Given the description of an element on the screen output the (x, y) to click on. 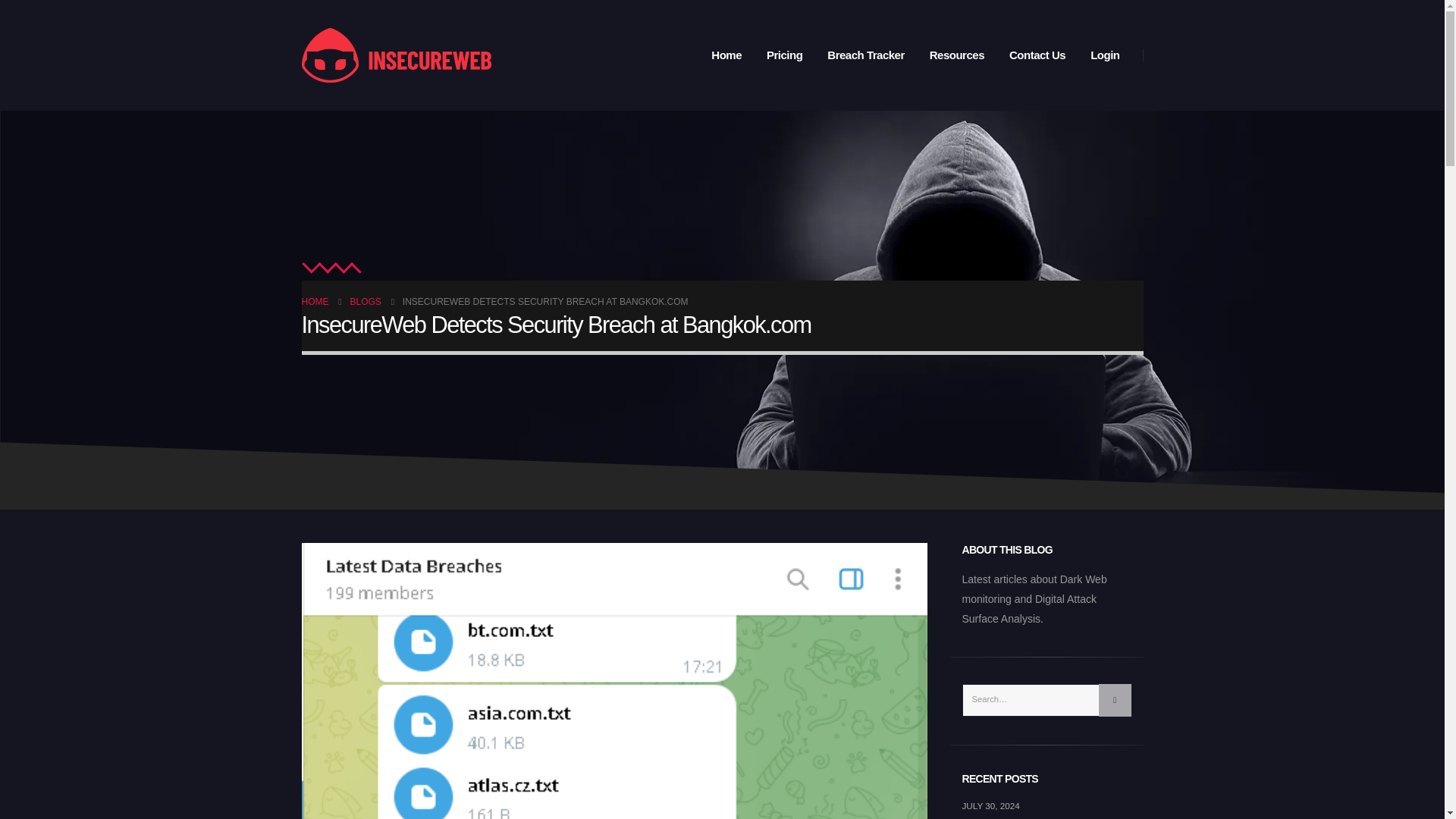
Contact Us (1037, 55)
Breach Tracker (865, 55)
Pricing (783, 55)
Home (726, 55)
HOME (315, 301)
Login (1104, 55)
Go to Home Page (315, 301)
Resources (956, 55)
BLOGS (365, 301)
